Given the description of an element on the screen output the (x, y) to click on. 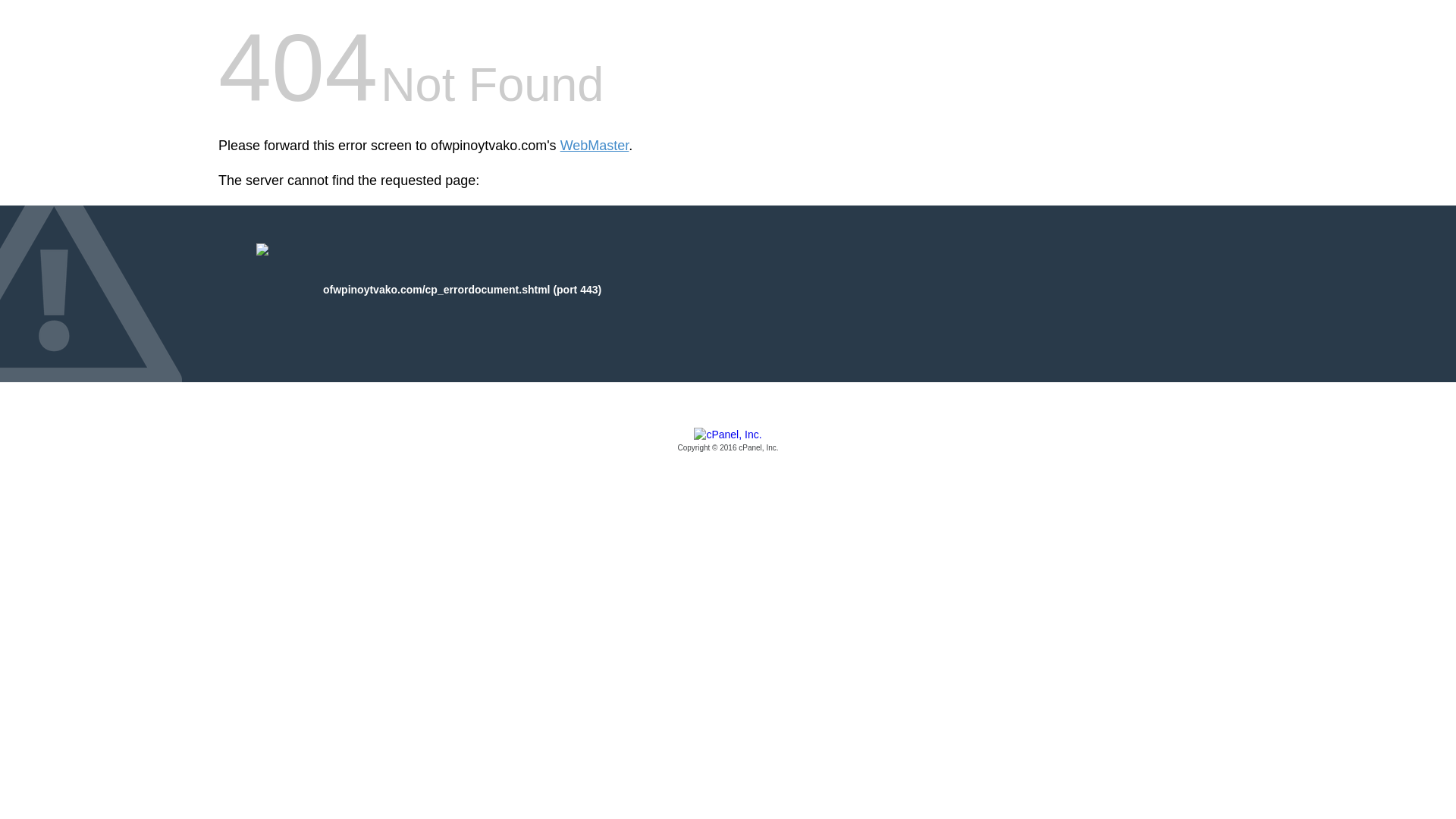
cPanel, Inc. (727, 440)
WebMaster (594, 145)
